Given the description of an element on the screen output the (x, y) to click on. 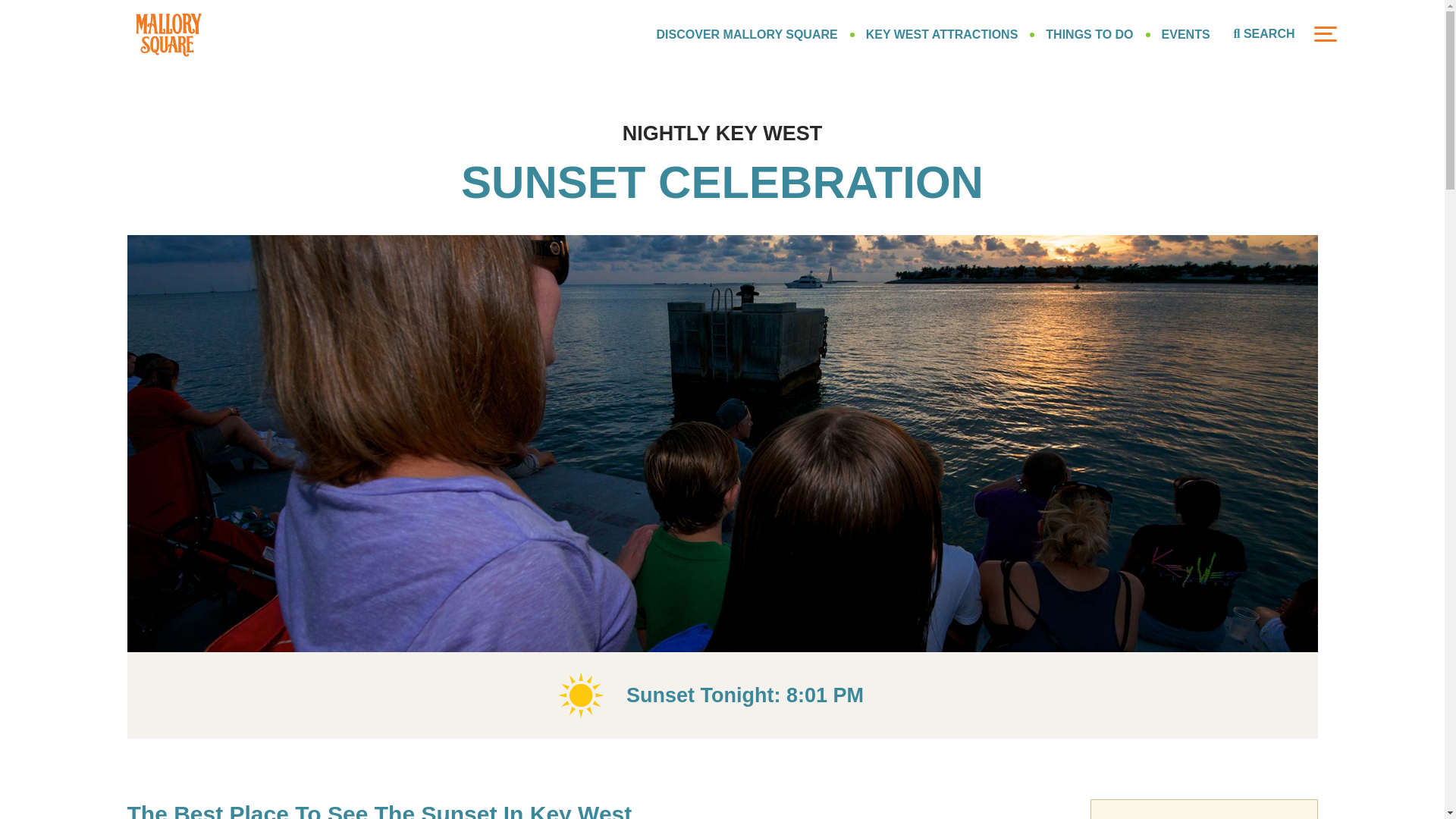
Menu (1324, 33)
DISCOVER MALLORY SQUARE (747, 33)
EVENTS (1185, 33)
SEARCH (1264, 34)
KEY WEST ATTRACTIONS (941, 33)
advertisement iframe (1203, 809)
THINGS TO DO (1088, 33)
navbar brand (167, 33)
